Given the description of an element on the screen output the (x, y) to click on. 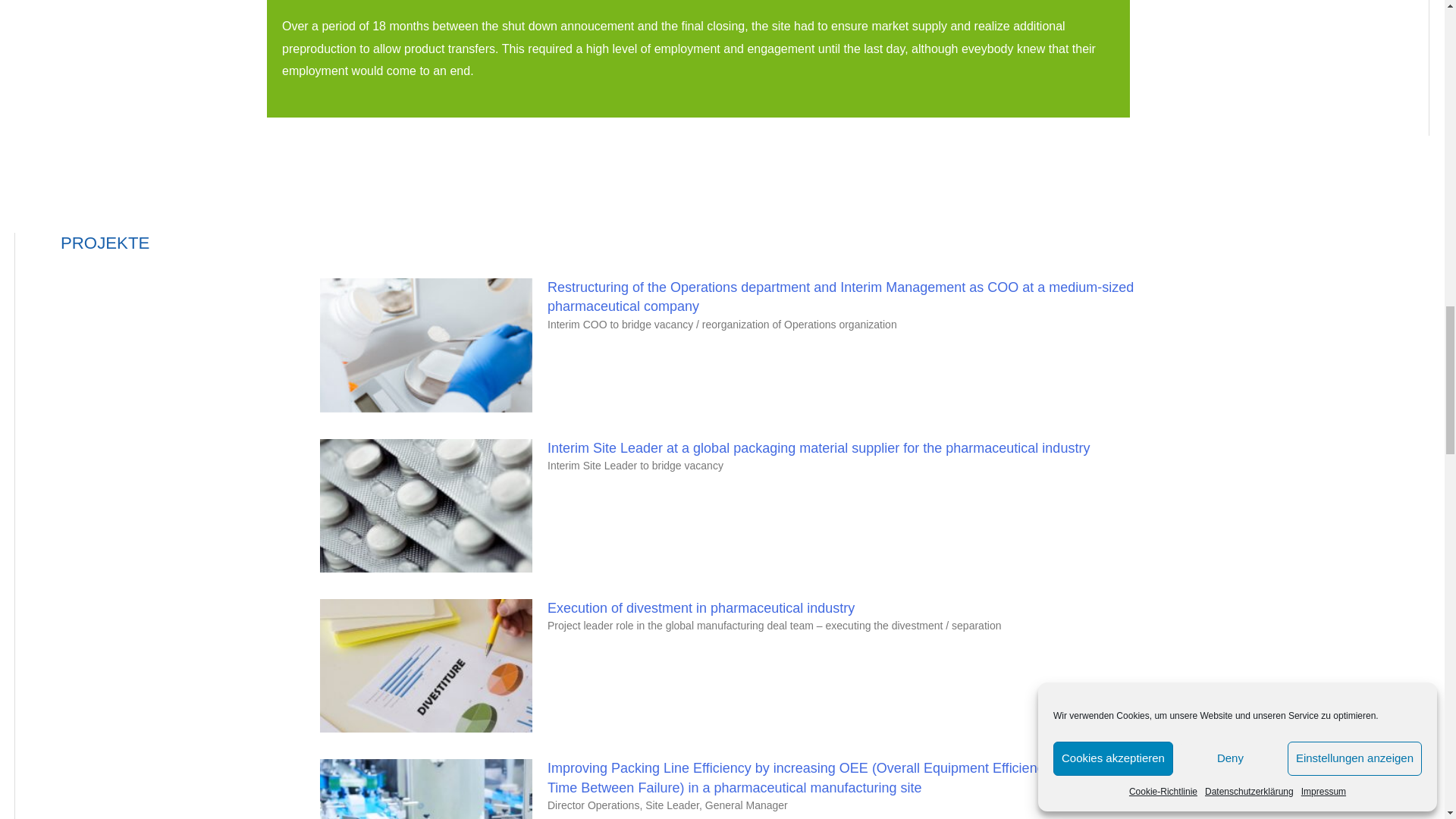
Execution of divestment in pharmaceutical industry (700, 607)
